Given the description of an element on the screen output the (x, y) to click on. 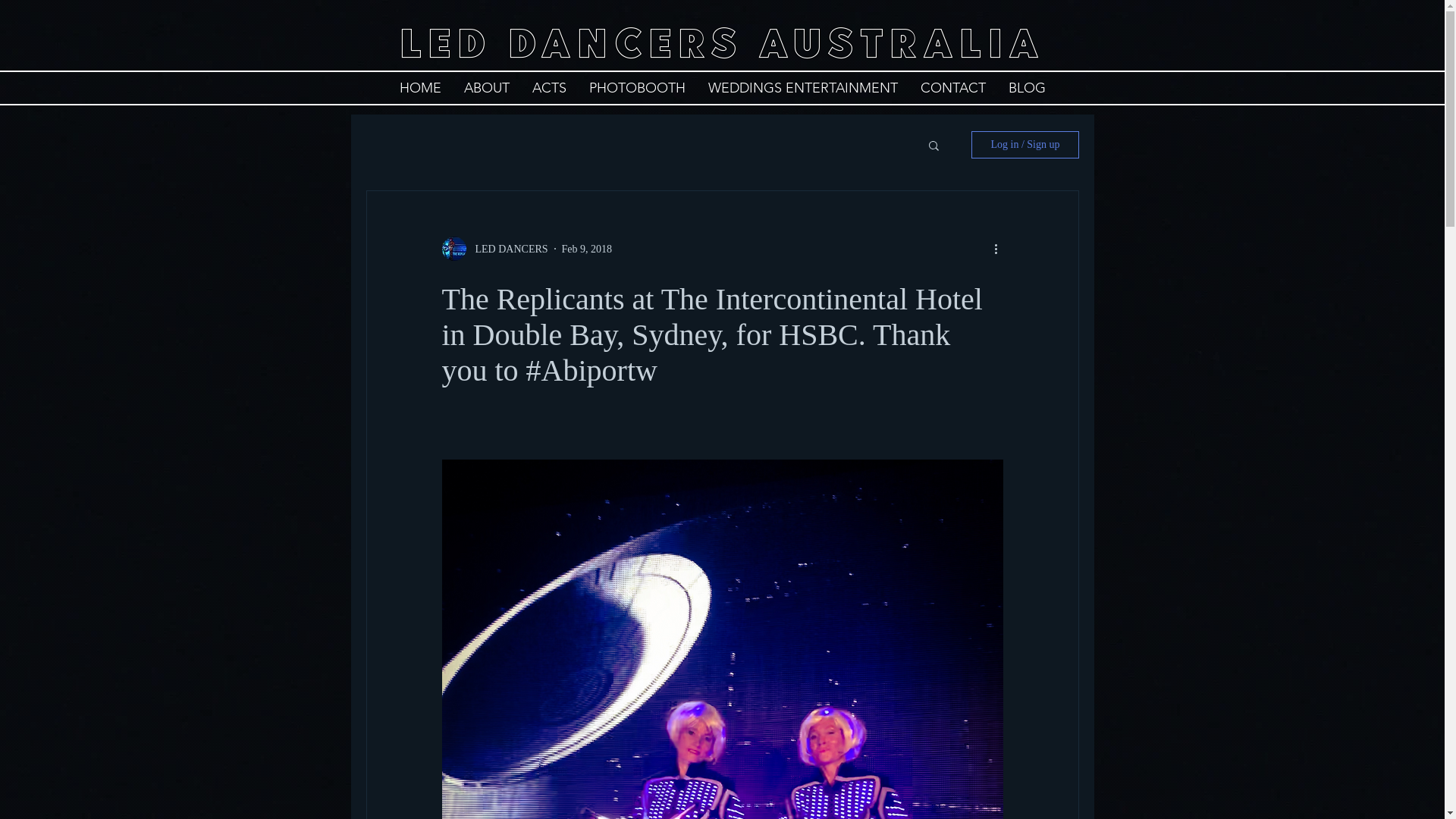
HOME Element type: text (420, 87)
Log in / Sign up Element type: text (1024, 144)
ABOUT Element type: text (485, 87)
CONTACT Element type: text (952, 87)
WEDDINGS ENTERTAINMENT Element type: text (802, 87)
PHOTOBOOTH Element type: text (636, 87)
LED DANCERS Element type: text (494, 248)
ACTS Element type: text (548, 87)
BLOG Element type: text (1026, 87)
